Given the description of an element on the screen output the (x, y) to click on. 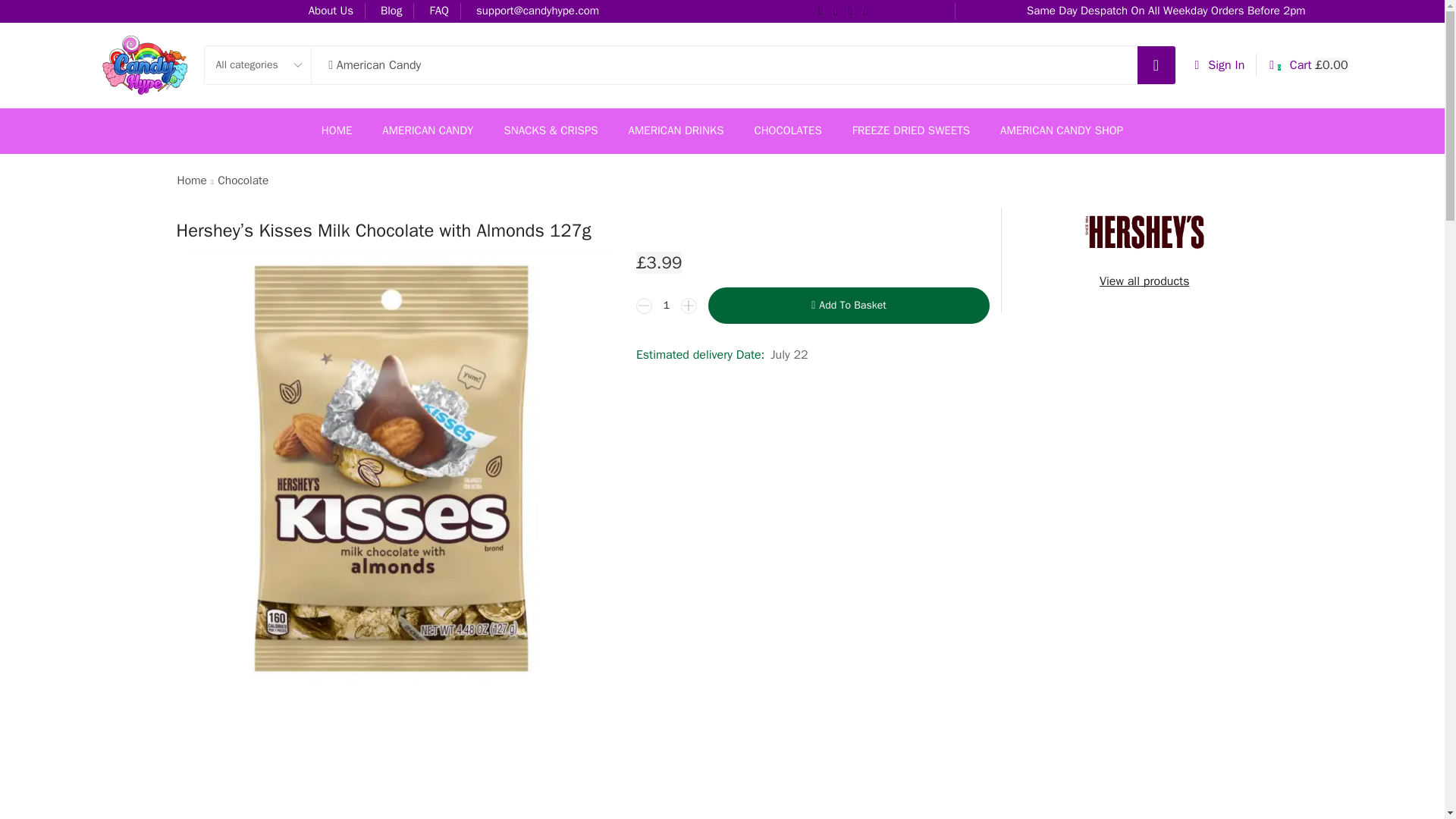
Candy-Hype-Main-Logo.png (144, 65)
AMERICAN CANDY (427, 130)
Login (1230, 284)
Sign In (1219, 65)
AMERICAN DRINKS (675, 130)
CHOCOLATES (787, 130)
FREEZE DRIED SWEETS (910, 130)
Search (1155, 64)
FAQ (438, 10)
Chocolate (242, 180)
About Us (330, 10)
Home (191, 180)
1 (666, 305)
HOME (336, 130)
Blog (390, 10)
